Given the description of an element on the screen output the (x, y) to click on. 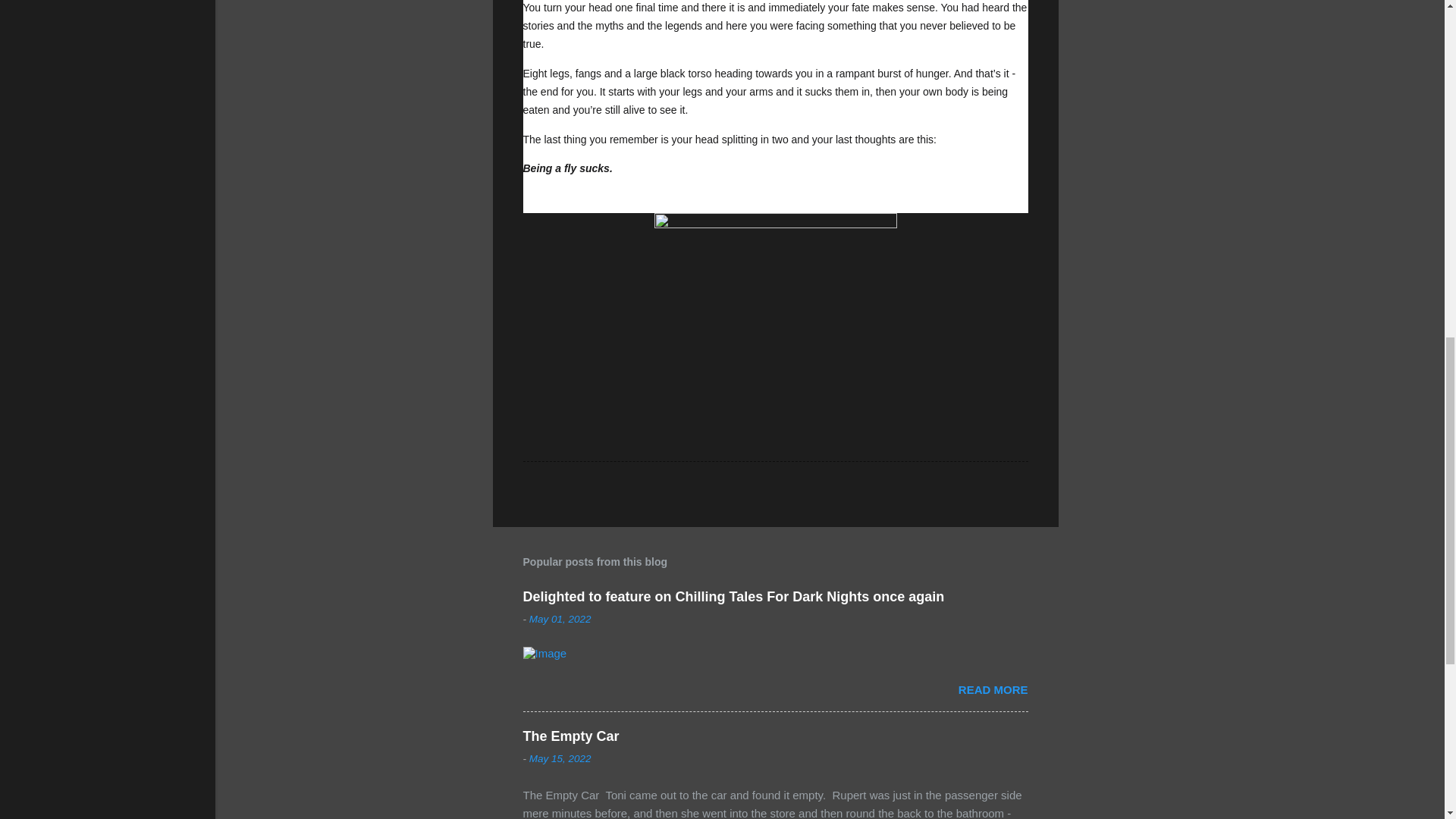
May 15, 2022 (560, 758)
May 01, 2022 (560, 618)
permanent link (560, 618)
READ MORE (992, 689)
The Empty Car (571, 735)
